Given the description of an element on the screen output the (x, y) to click on. 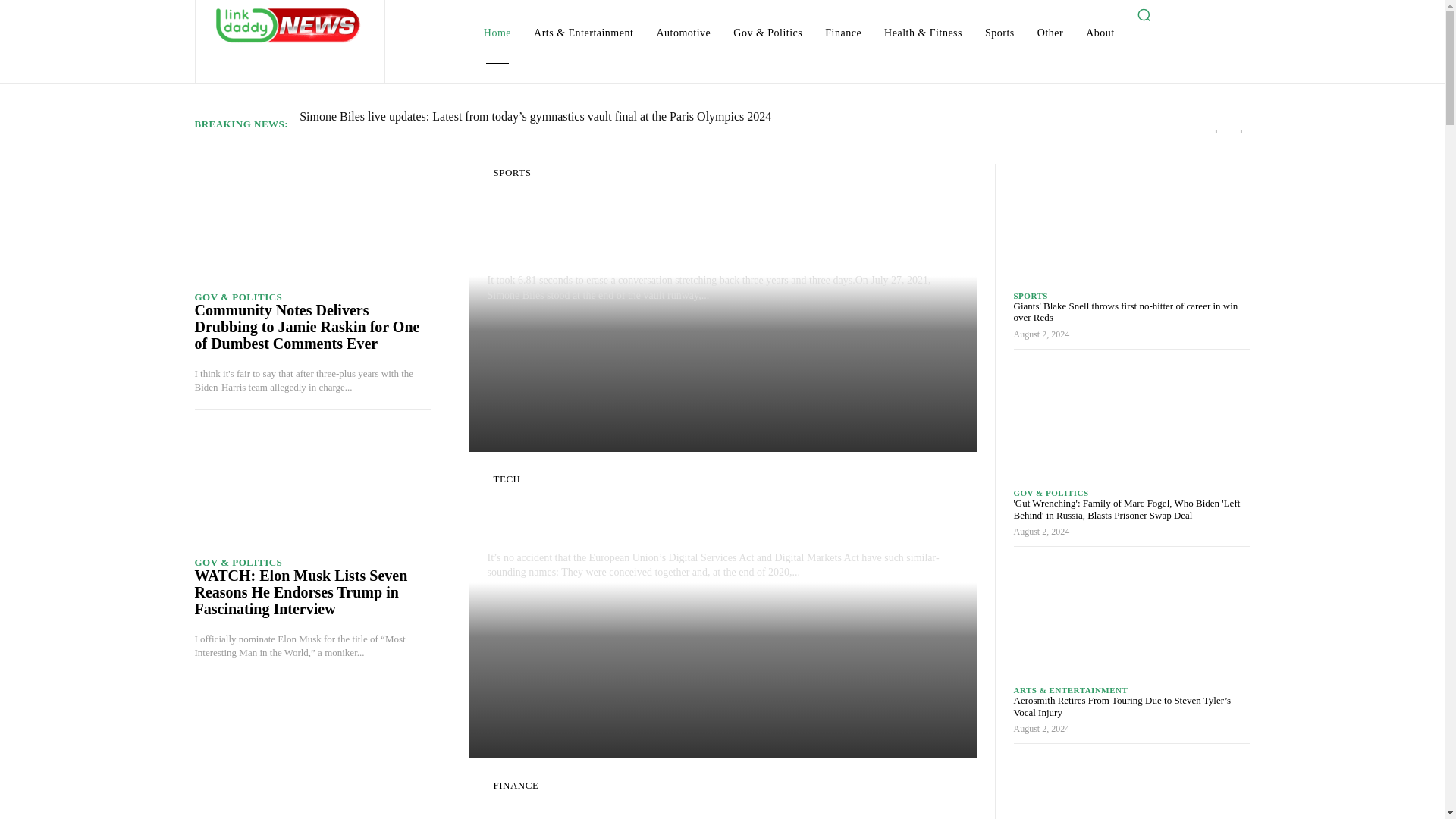
LinkDaddy News (287, 24)
Automotive (682, 33)
